Given the description of an element on the screen output the (x, y) to click on. 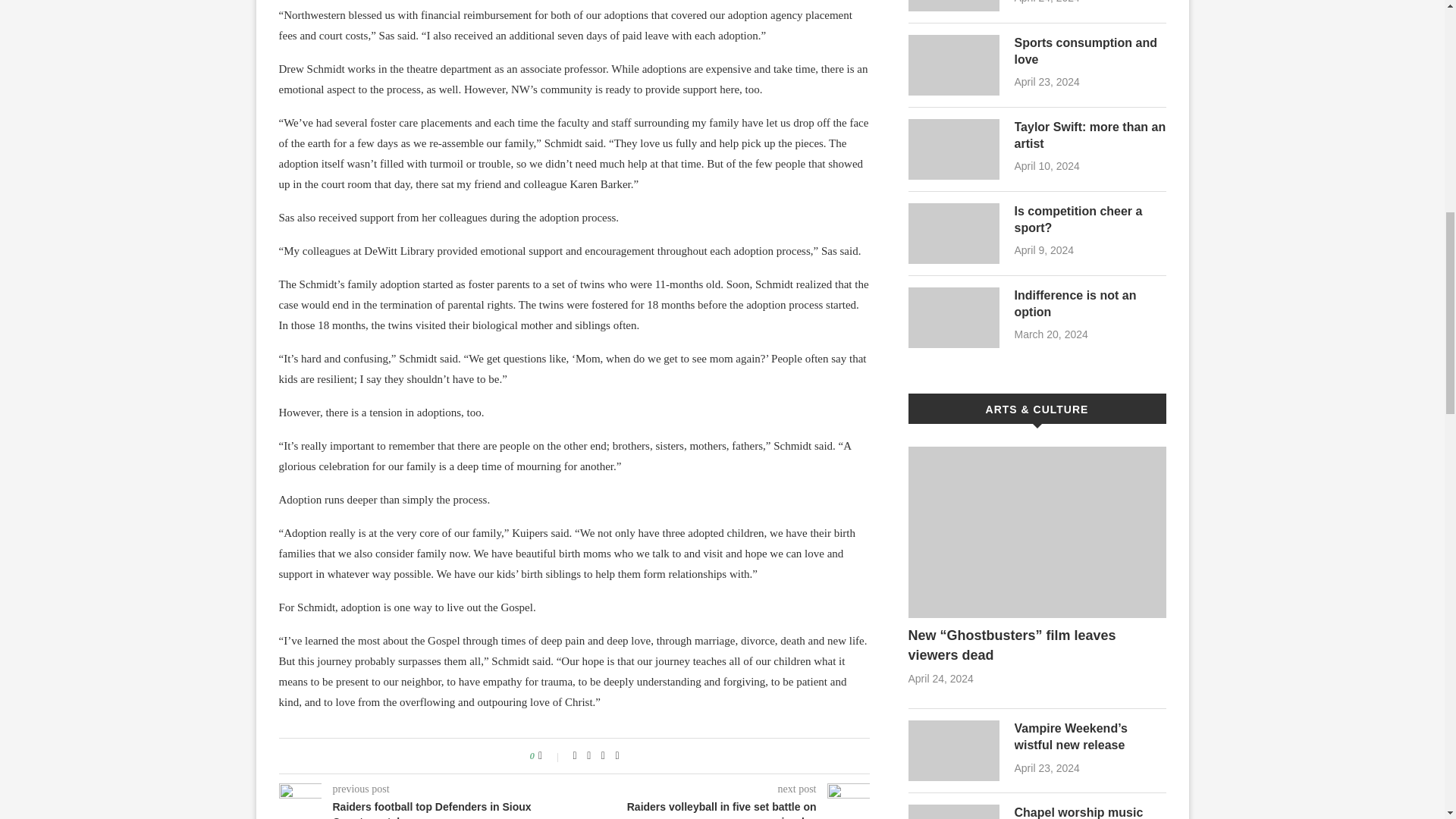
Christians have no enemies (953, 5)
Sports consumption and love (953, 65)
Sports consumption and love (1090, 51)
Raiders football top Defenders in Sioux County match-up (427, 809)
Is competition cheer a sport? (953, 233)
Taylor Swift: more than an artist (953, 148)
Raiders volleyball in five set battle on senior day (722, 809)
Taylor Swift: more than an artist (1090, 135)
Like (550, 756)
Is competition cheer a sport? (1090, 220)
